Given the description of an element on the screen output the (x, y) to click on. 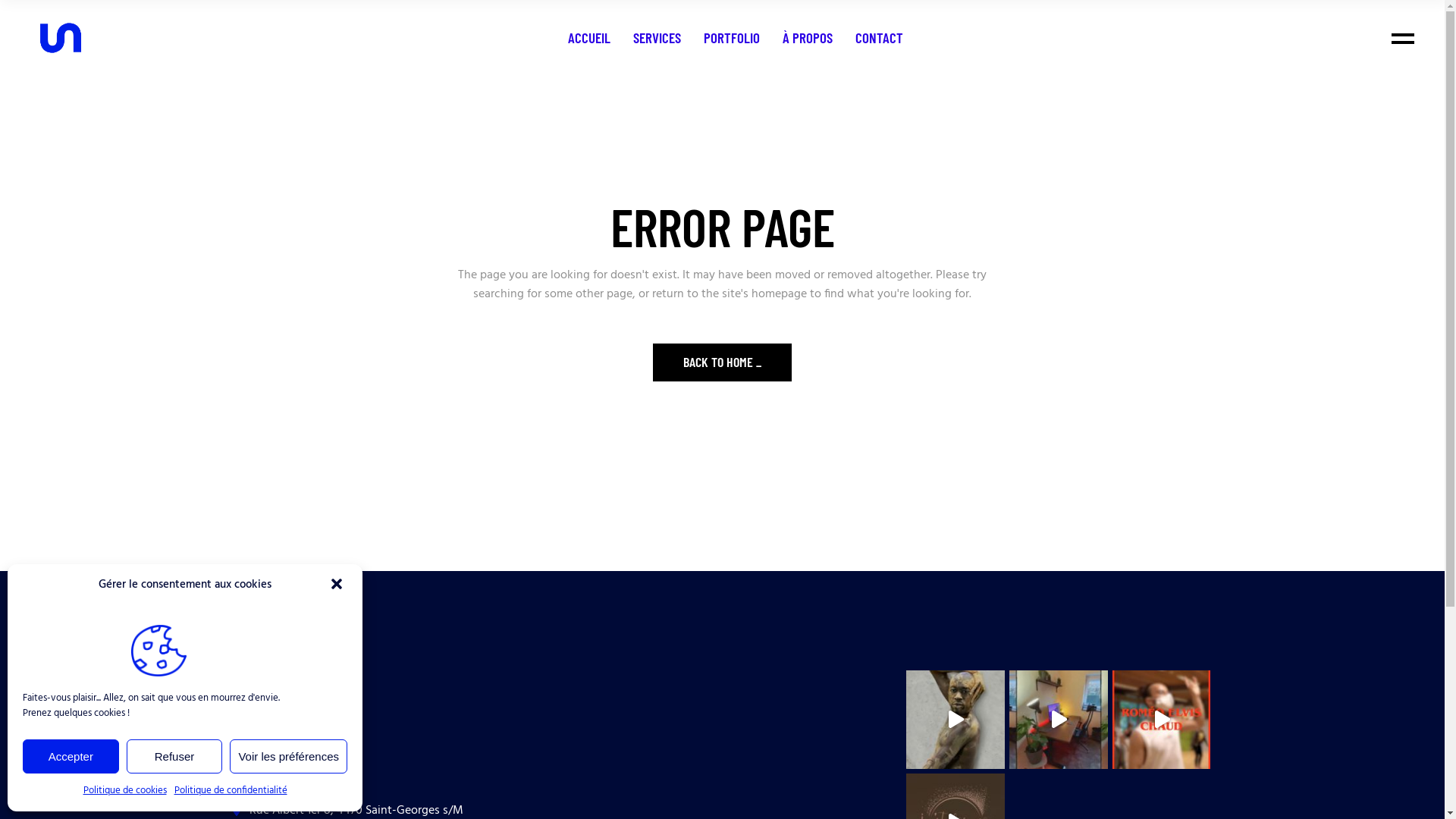
Refuser Element type: text (174, 756)
contact@bleunoir.be Element type: text (293, 763)
CONTACT Element type: text (879, 37)
+32 478.34.73.21 Element type: text (278, 740)
PORTFOLIO Element type: text (731, 37)
SERVICES Element type: text (656, 37)
BACK TO HOME _ Element type: text (721, 362)
Politique de cookies Element type: text (124, 790)
Accepter Element type: text (70, 756)
ACCUEIL Element type: text (588, 37)
